Given the description of an element on the screen output the (x, y) to click on. 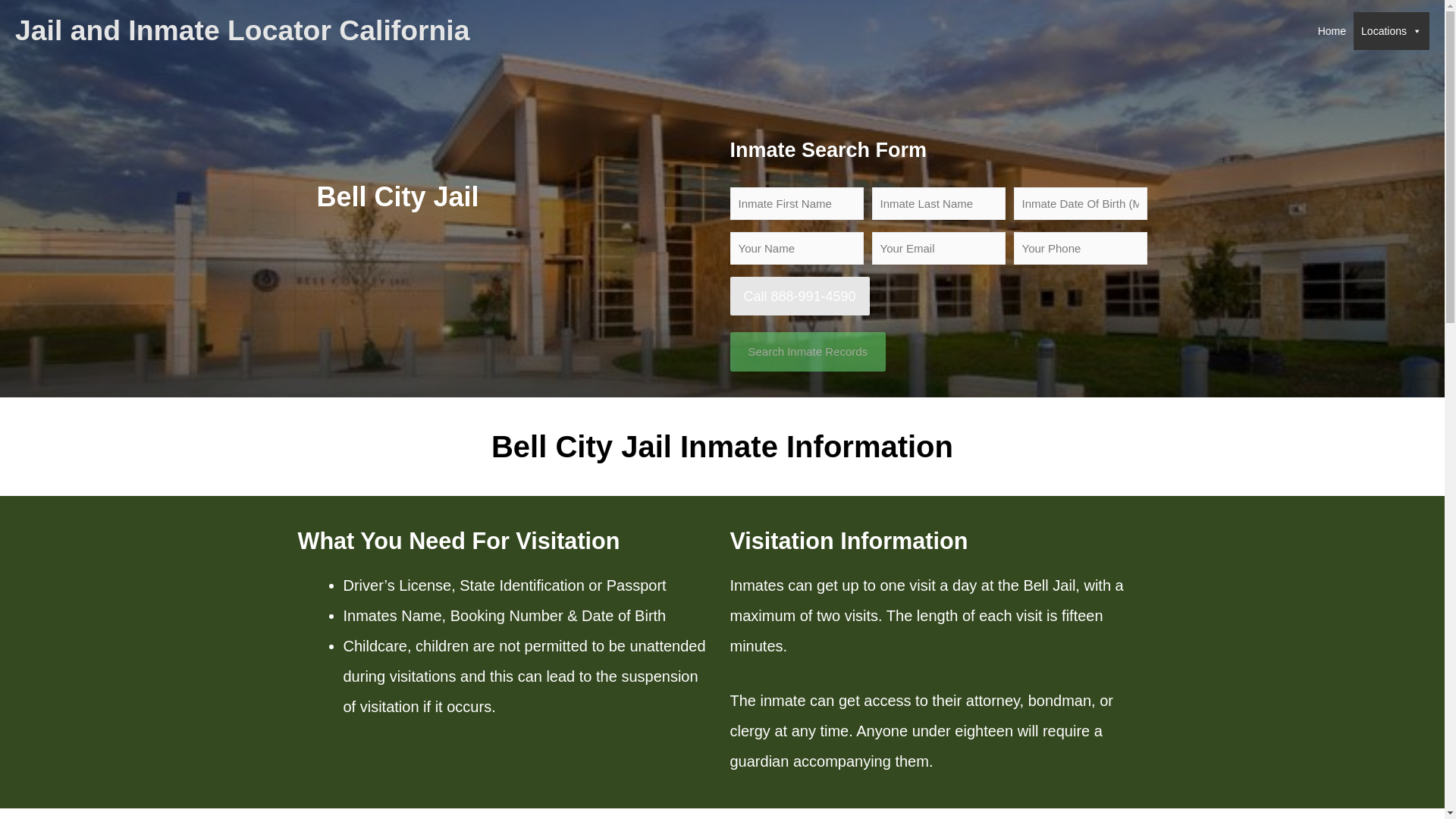
Home (1332, 30)
Search Inmate Records (807, 351)
Jail and Inmate Locator California (241, 29)
Locations (1391, 30)
